Given the description of an element on the screen output the (x, y) to click on. 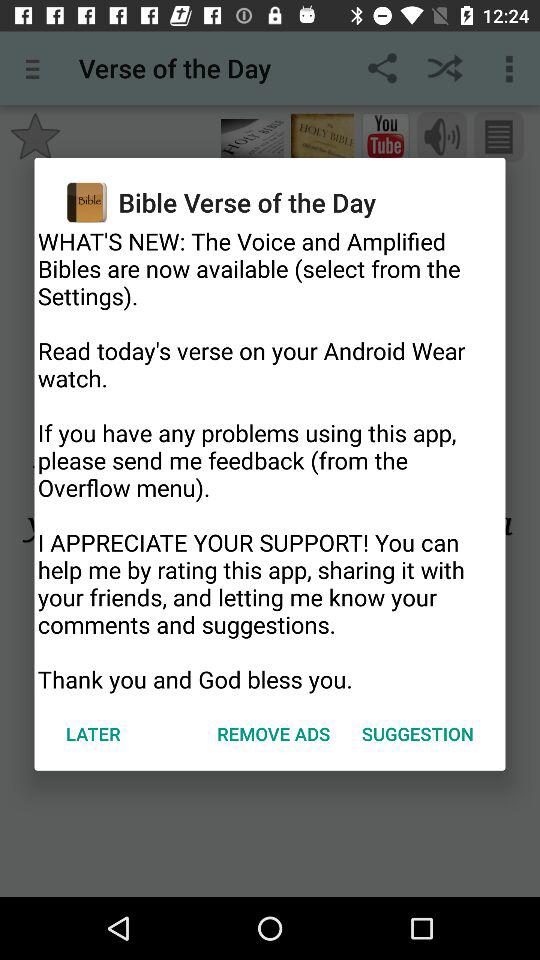
open item to the left of the suggestion item (273, 733)
